Given the description of an element on the screen output the (x, y) to click on. 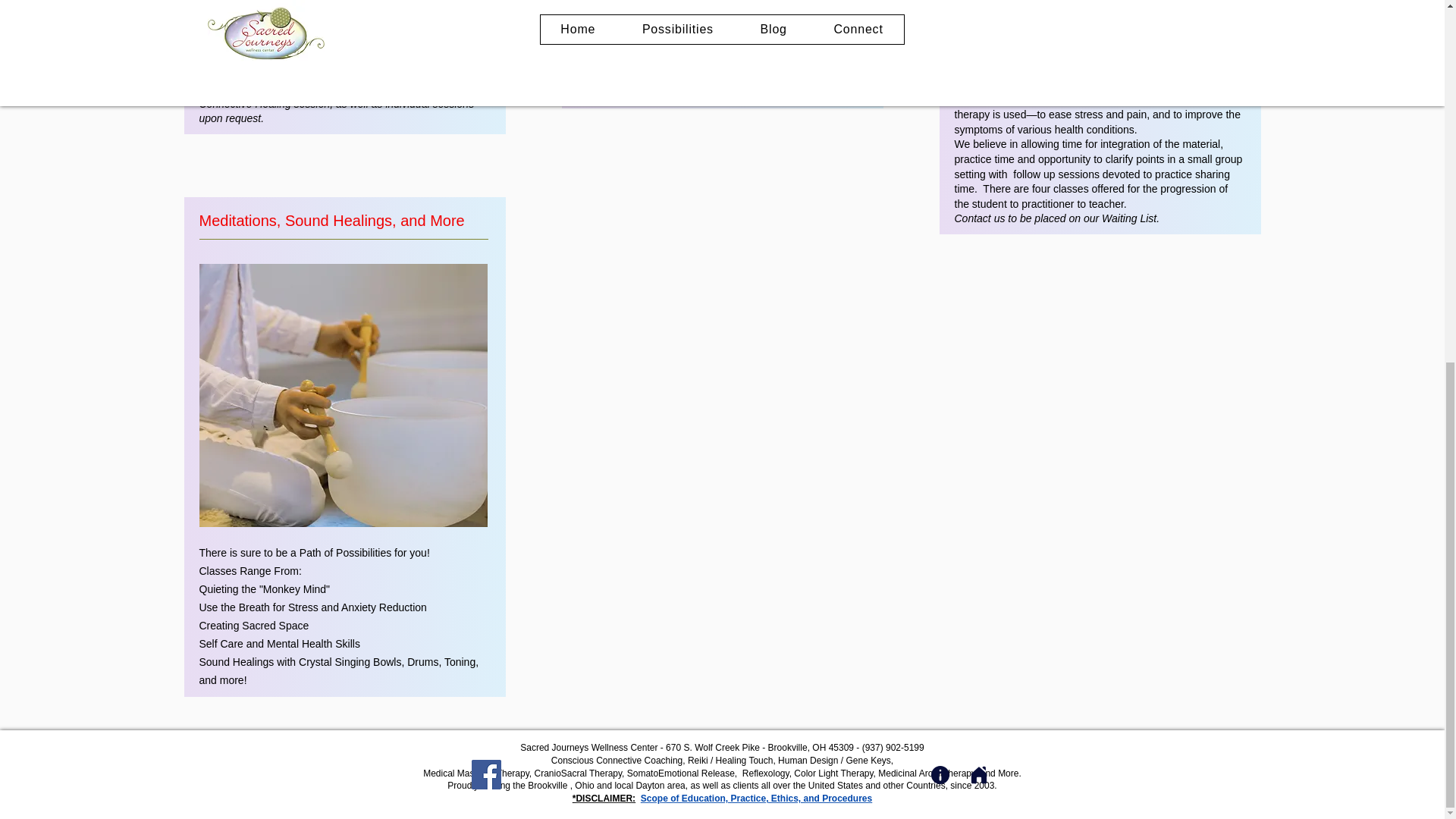
Scope of Education, Practice, Ethics, and Procedures (756, 798)
